Given the description of an element on the screen output the (x, y) to click on. 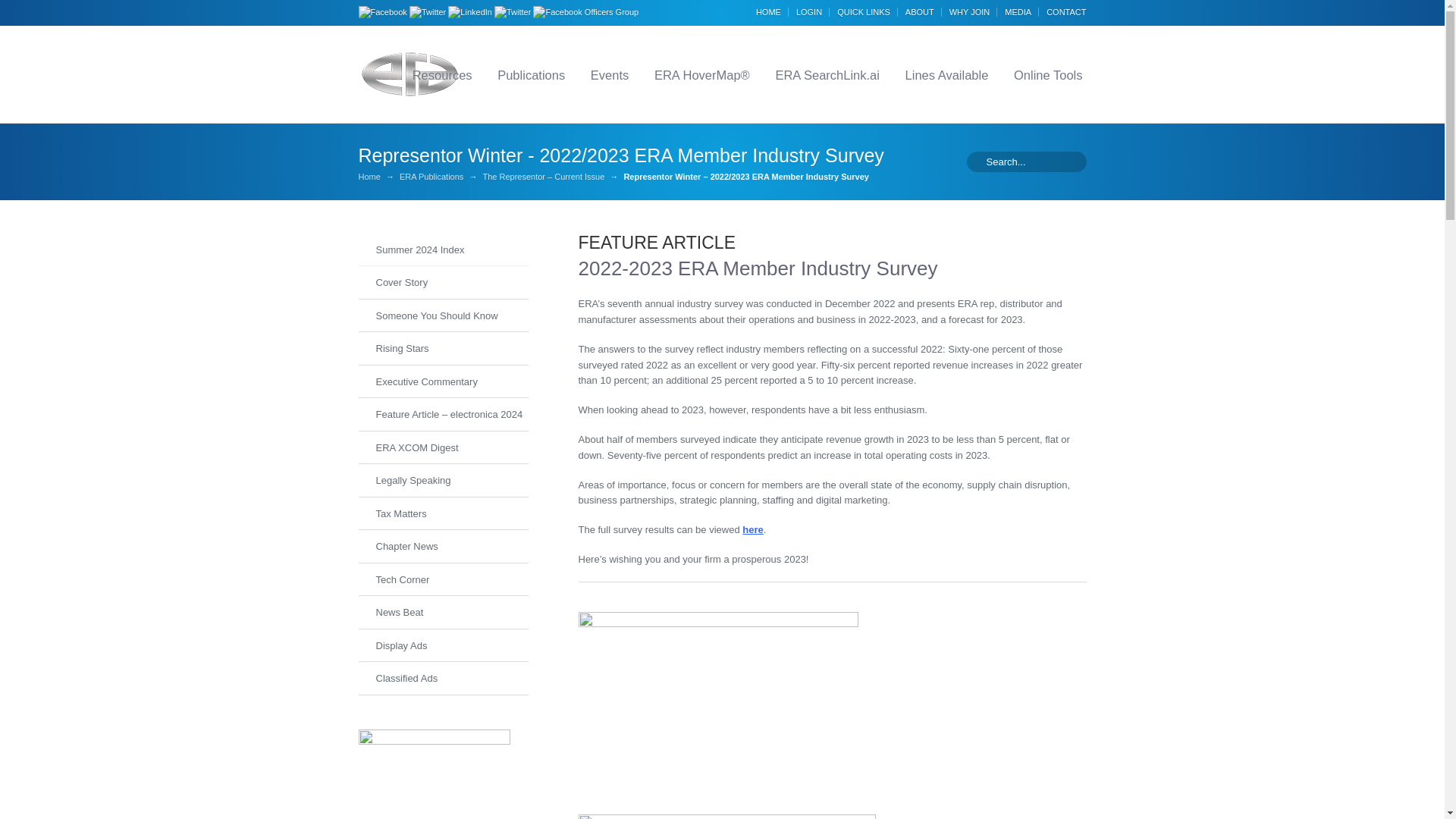
QUICK LINKS (867, 11)
LOGIN (812, 11)
Search... (1024, 161)
MEDIA (1021, 11)
HOME (772, 11)
WHY JOIN (973, 11)
ABOUT (923, 11)
